Given the description of an element on the screen output the (x, y) to click on. 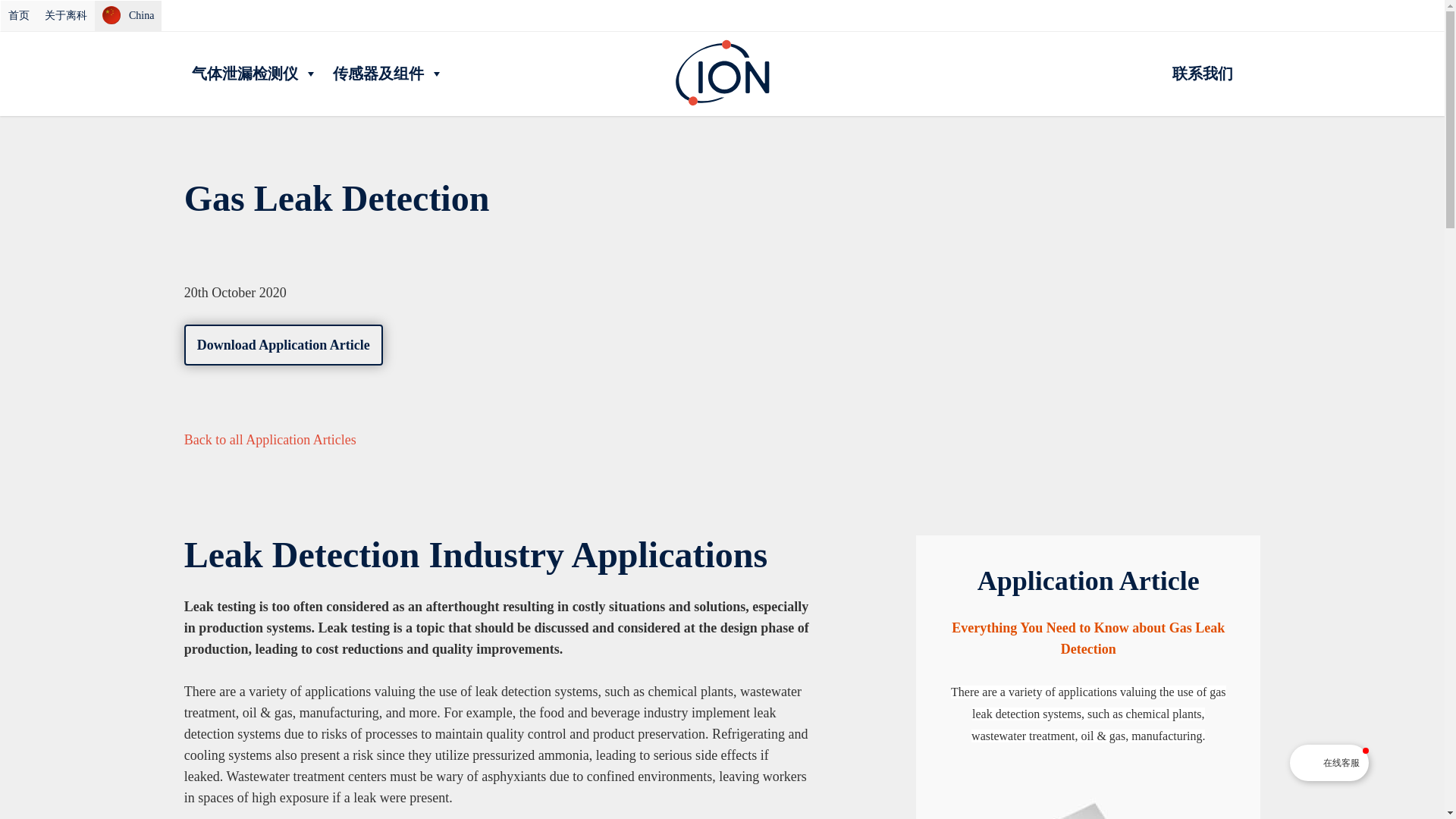
Gas and Leak Detectors (277, 131)
Gas Leak Detection (505, 131)
Gas Leak Detection (397, 131)
Back to all Application Articles (270, 439)
China (127, 15)
Download Application Article (283, 344)
